Given the description of an element on the screen output the (x, y) to click on. 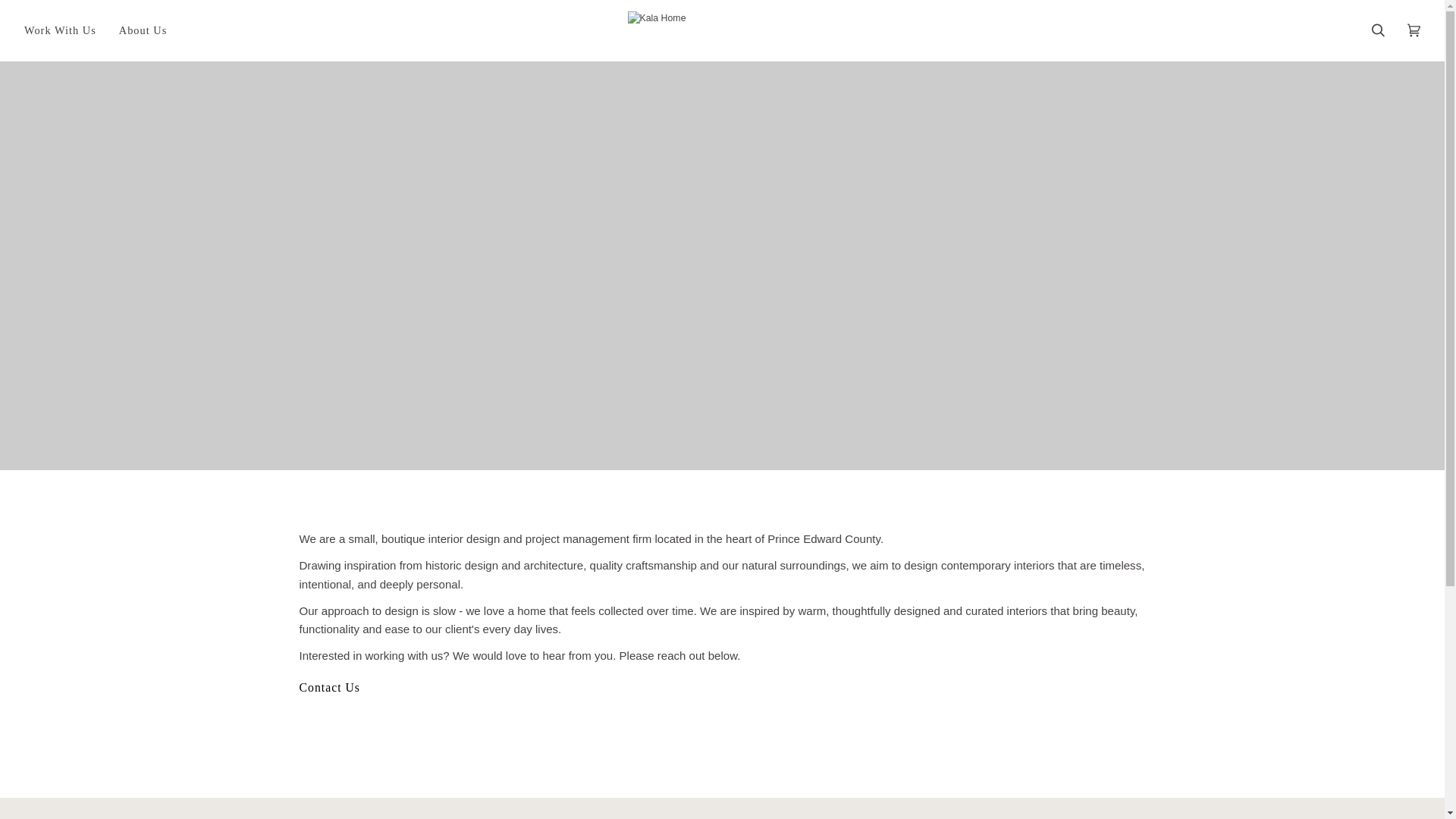
Work With Us (60, 30)
Contact Us (328, 686)
About Us (143, 30)
